Given the description of an element on the screen output the (x, y) to click on. 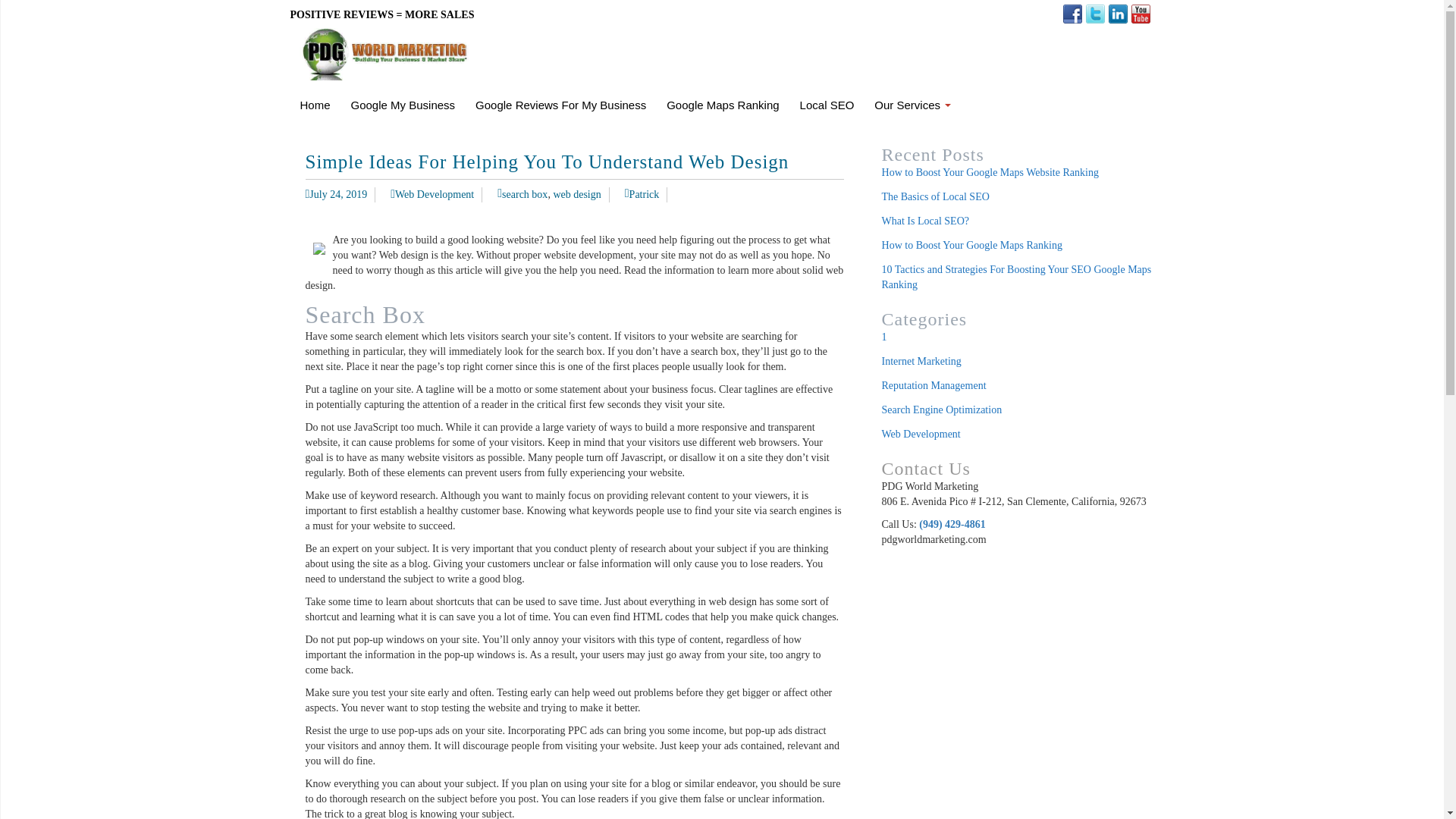
Home (314, 104)
Google Reviews For My Business (560, 104)
Google My Business (402, 104)
Twitter (1095, 13)
Our Services (909, 104)
July 24, 2019 (335, 194)
Linked In (1117, 13)
Local SEO (827, 104)
You Tube (1140, 13)
View all posts by Patrick (641, 194)
